Given the description of an element on the screen output the (x, y) to click on. 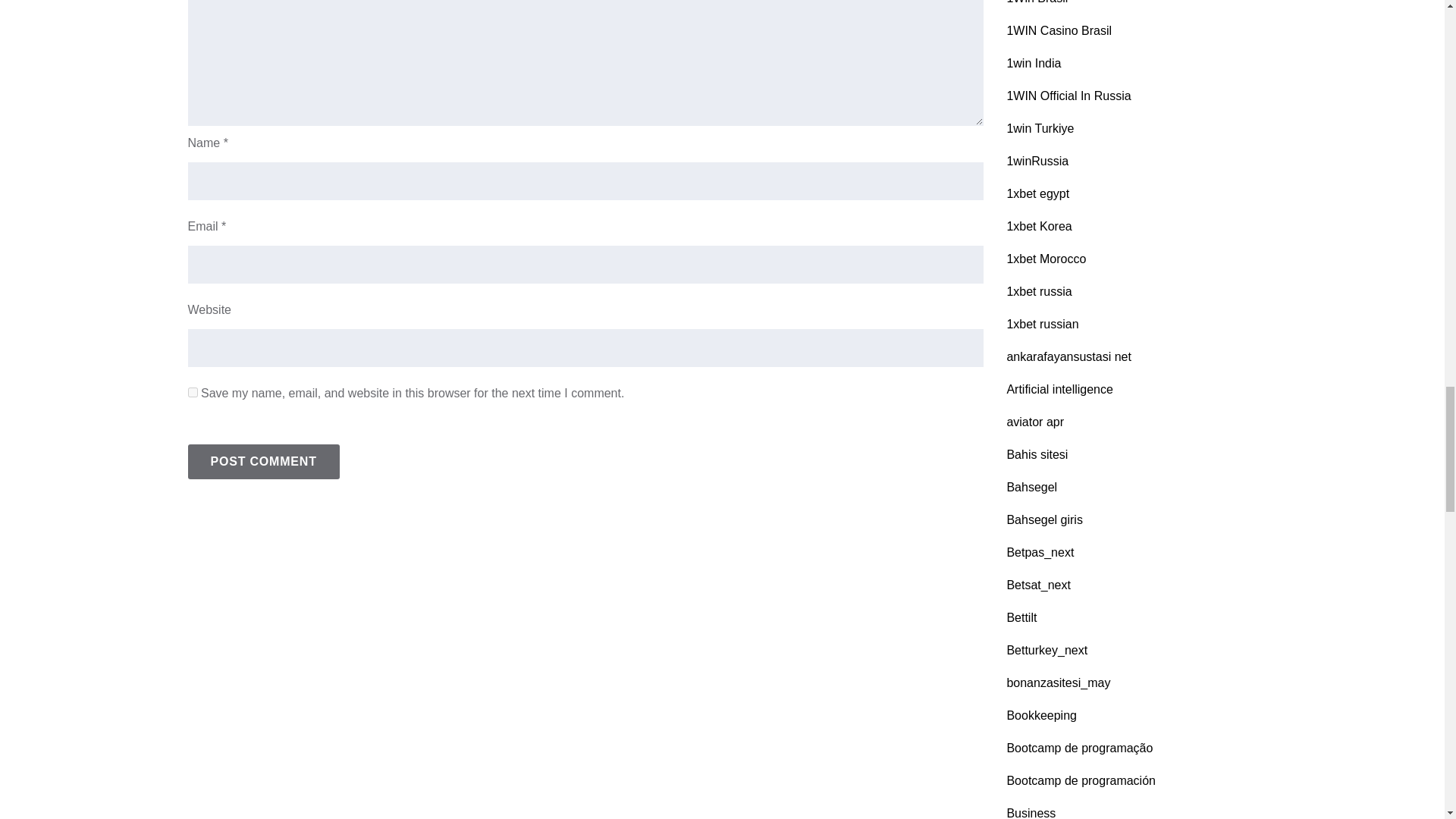
yes (192, 392)
Post Comment (263, 461)
Post Comment (263, 461)
